Given the description of an element on the screen output the (x, y) to click on. 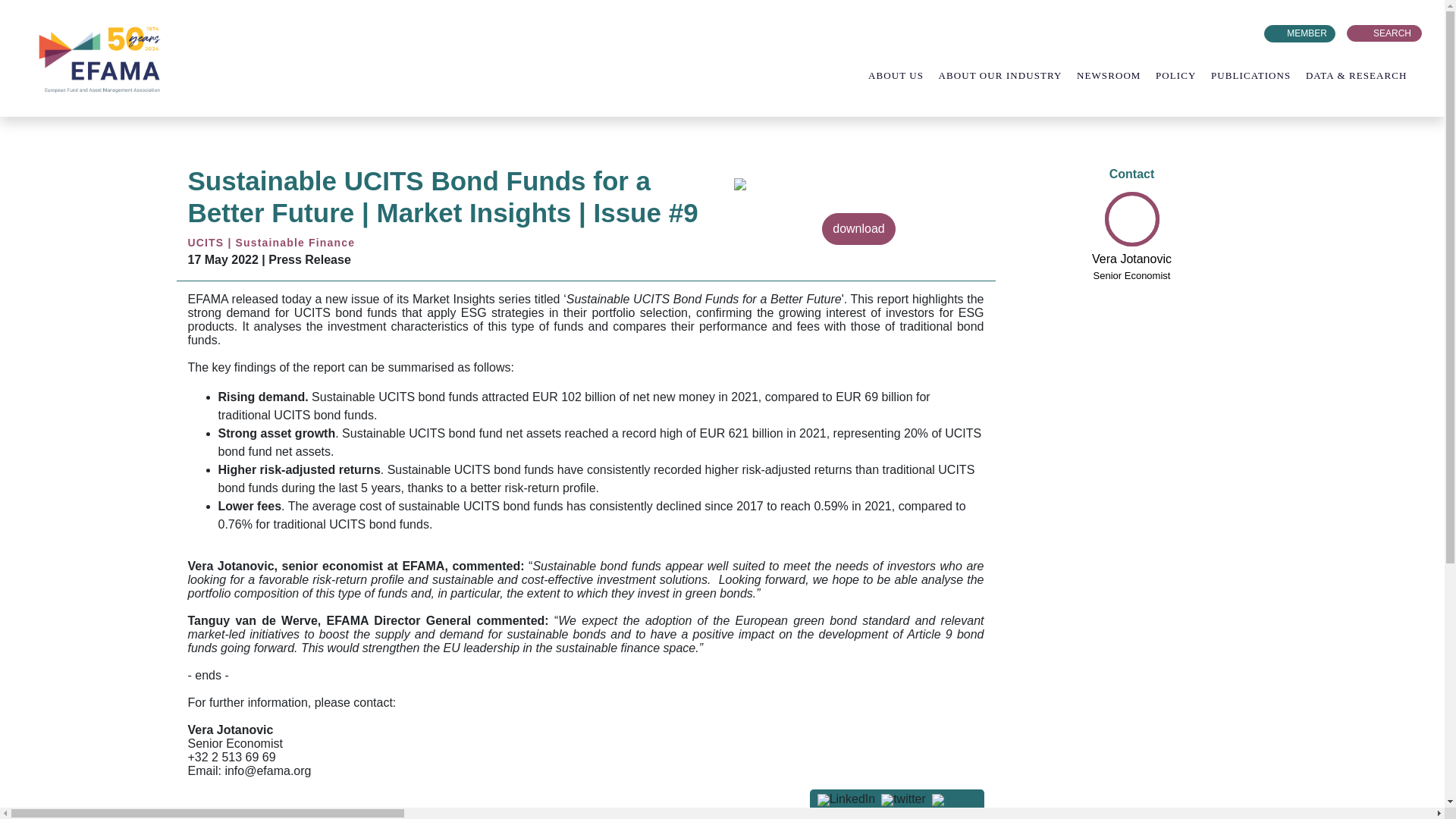
apply (24, 15)
EFAMA (101, 57)
POLICY (1183, 75)
ABOUT US (903, 75)
LinkedIn (1227, 32)
NEWSROOM (1116, 75)
Youtube (1249, 32)
Flux rss (1204, 32)
ABOUT OUR INDUSTRY (1008, 75)
